Given the description of an element on the screen output the (x, y) to click on. 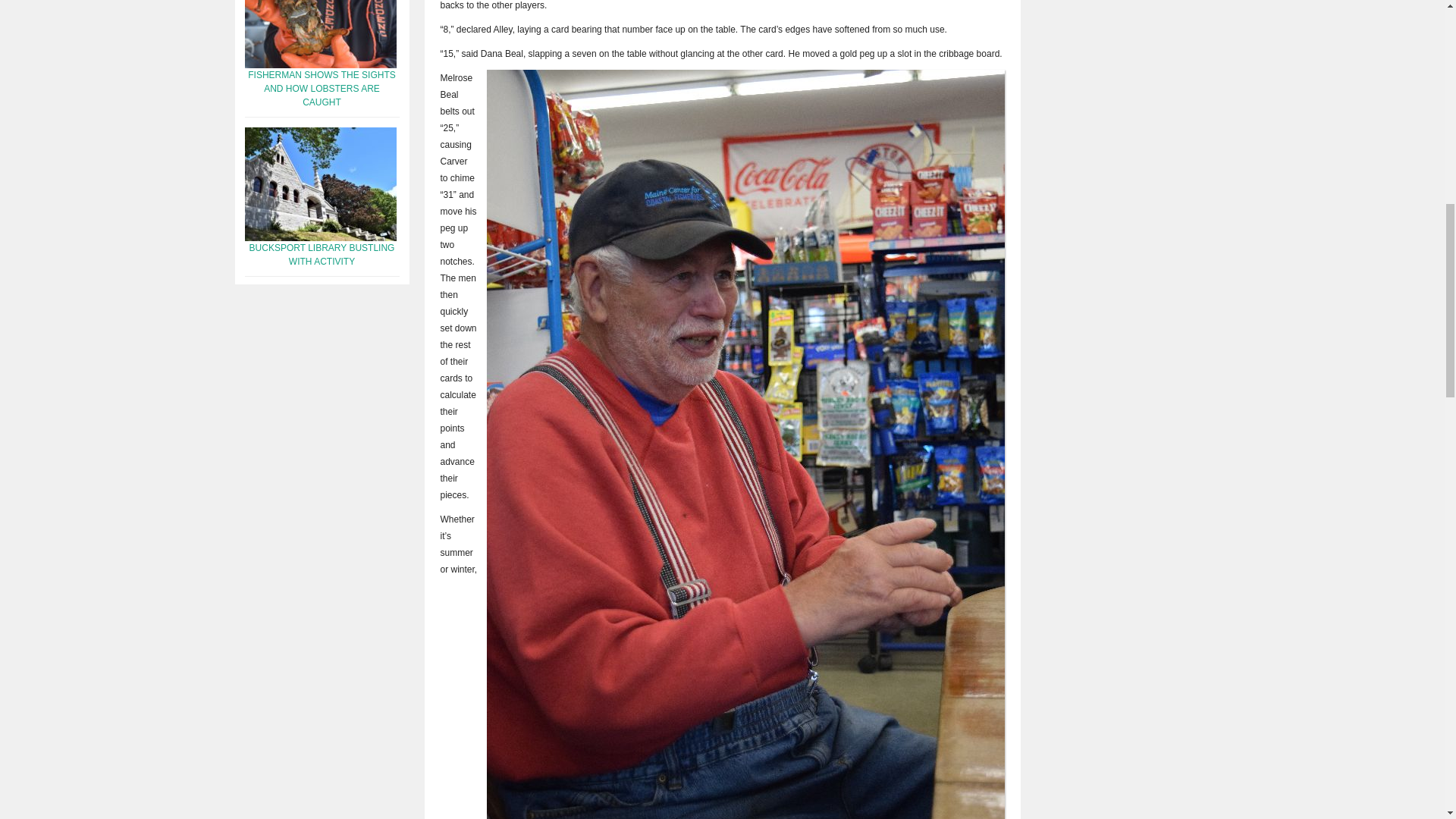
BUCKSPORT LIBRARY BUSTLING WITH ACTIVITY (321, 254)
FISHERMAN SHOWS THE SIGHTS AND HOW LOBSTERS ARE CAUGHT (320, 88)
